Given the description of an element on the screen output the (x, y) to click on. 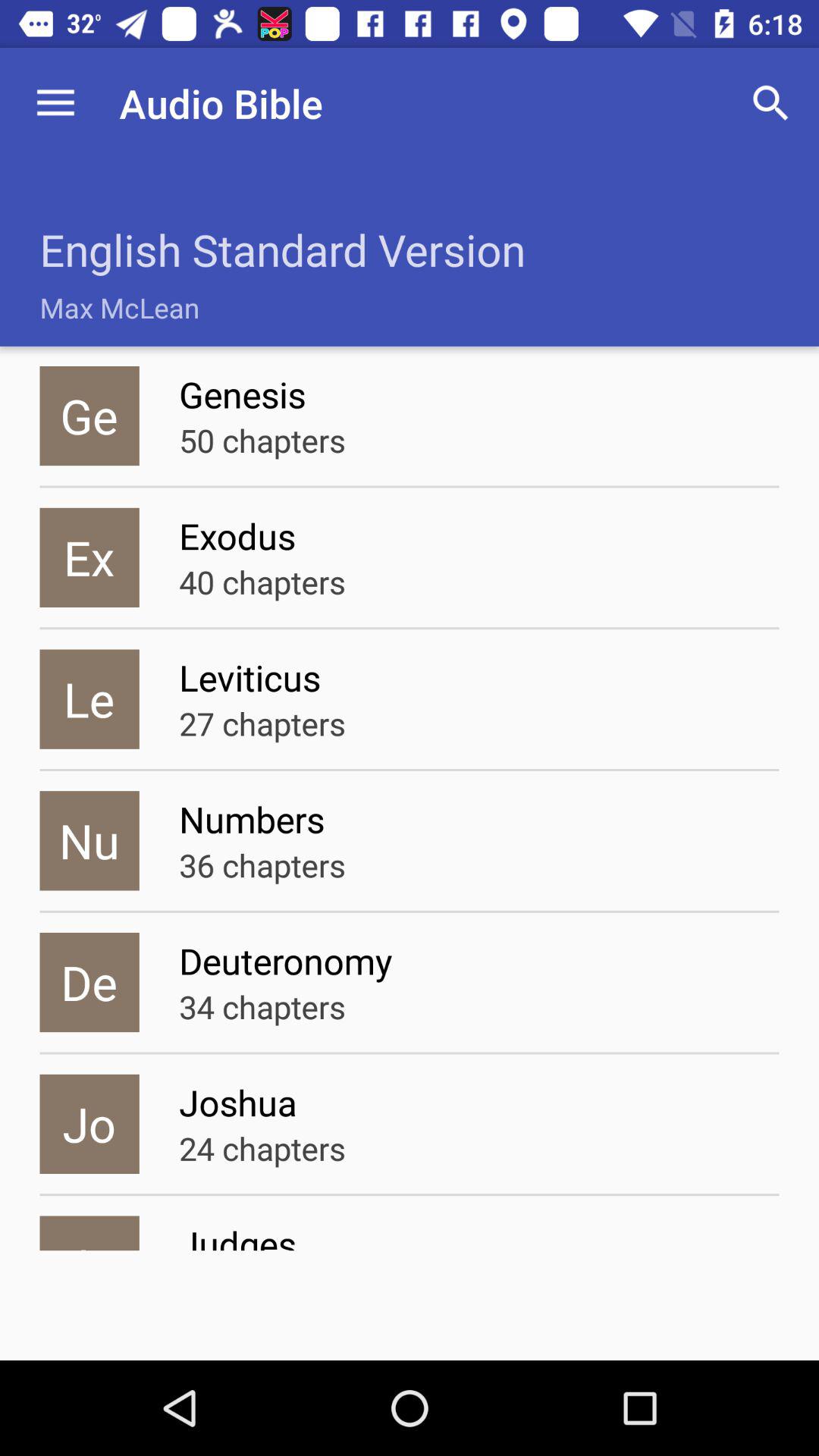
turn off item above the 27 chapters icon (479, 677)
